Given the description of an element on the screen output the (x, y) to click on. 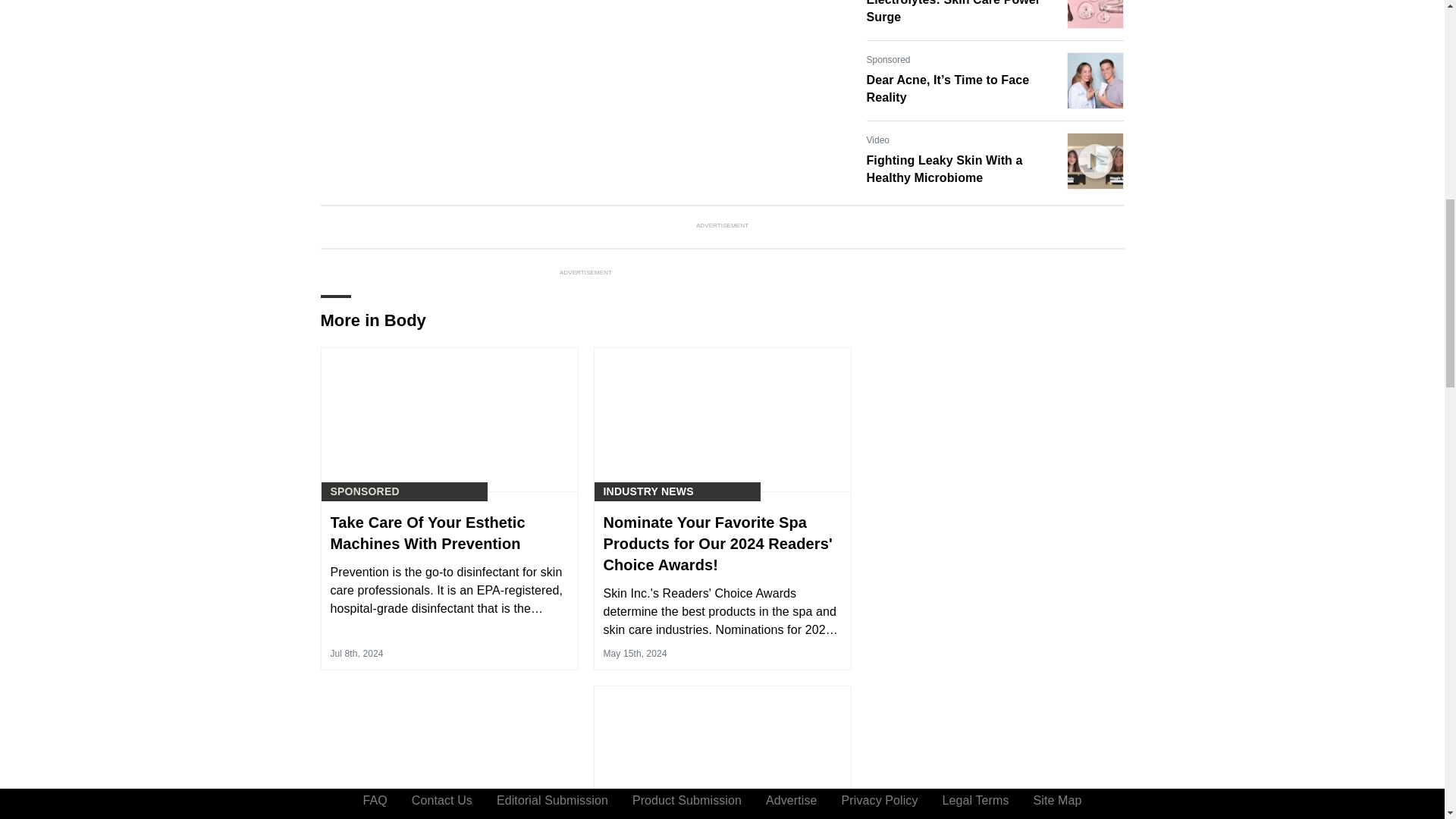
Sponsored (888, 59)
